Given the description of an element on the screen output the (x, y) to click on. 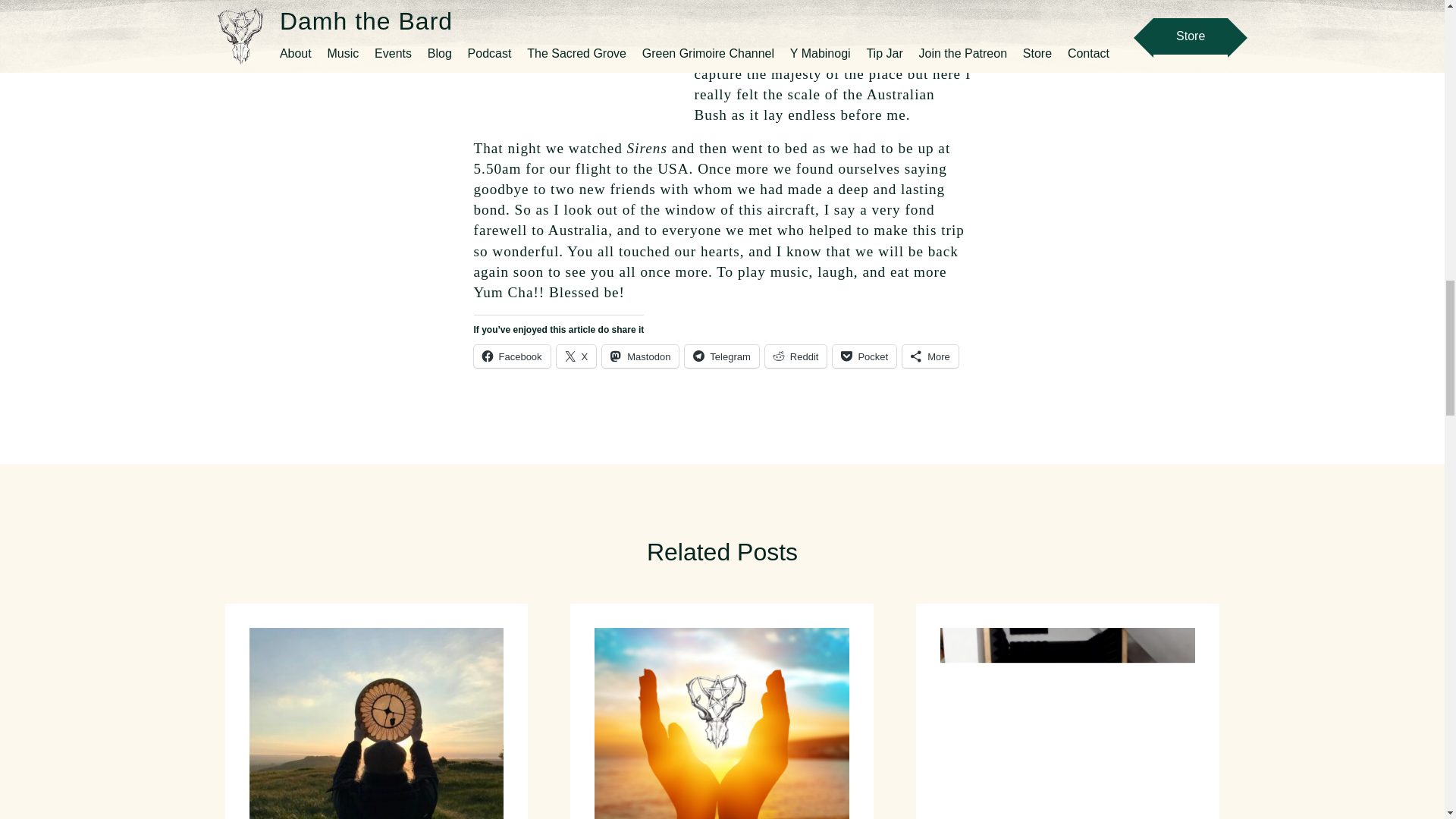
Click to share on Pocket (864, 355)
Click to share on Telegram (721, 355)
Click to share on Mastodon (640, 355)
Click to share on Facebook (511, 355)
Click to share on X (576, 355)
Click to share on Reddit (796, 355)
